Given the description of an element on the screen output the (x, y) to click on. 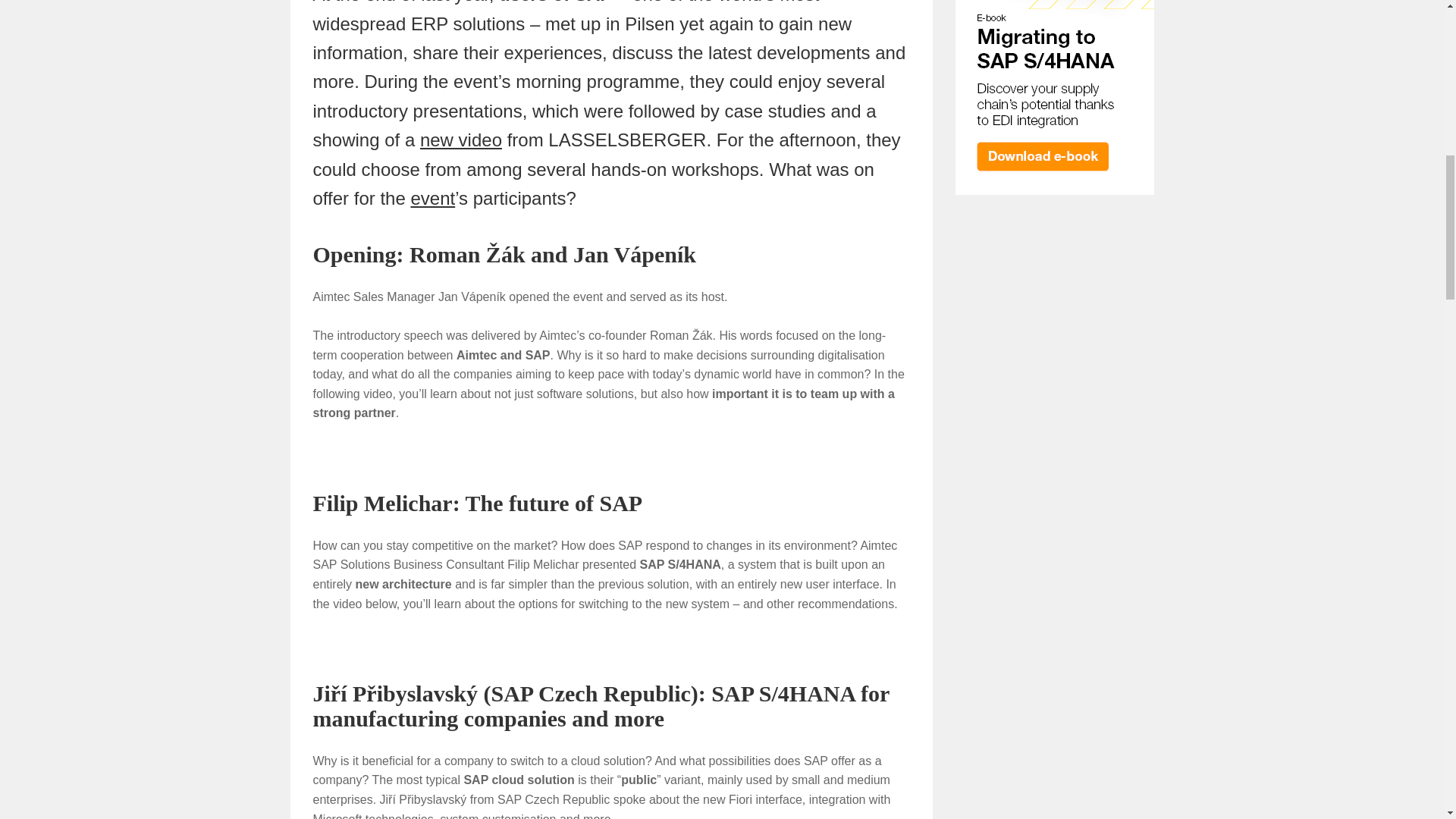
SAP User Group 2023 (432, 198)
event (432, 198)
new video (461, 139)
